Given the description of an element on the screen output the (x, y) to click on. 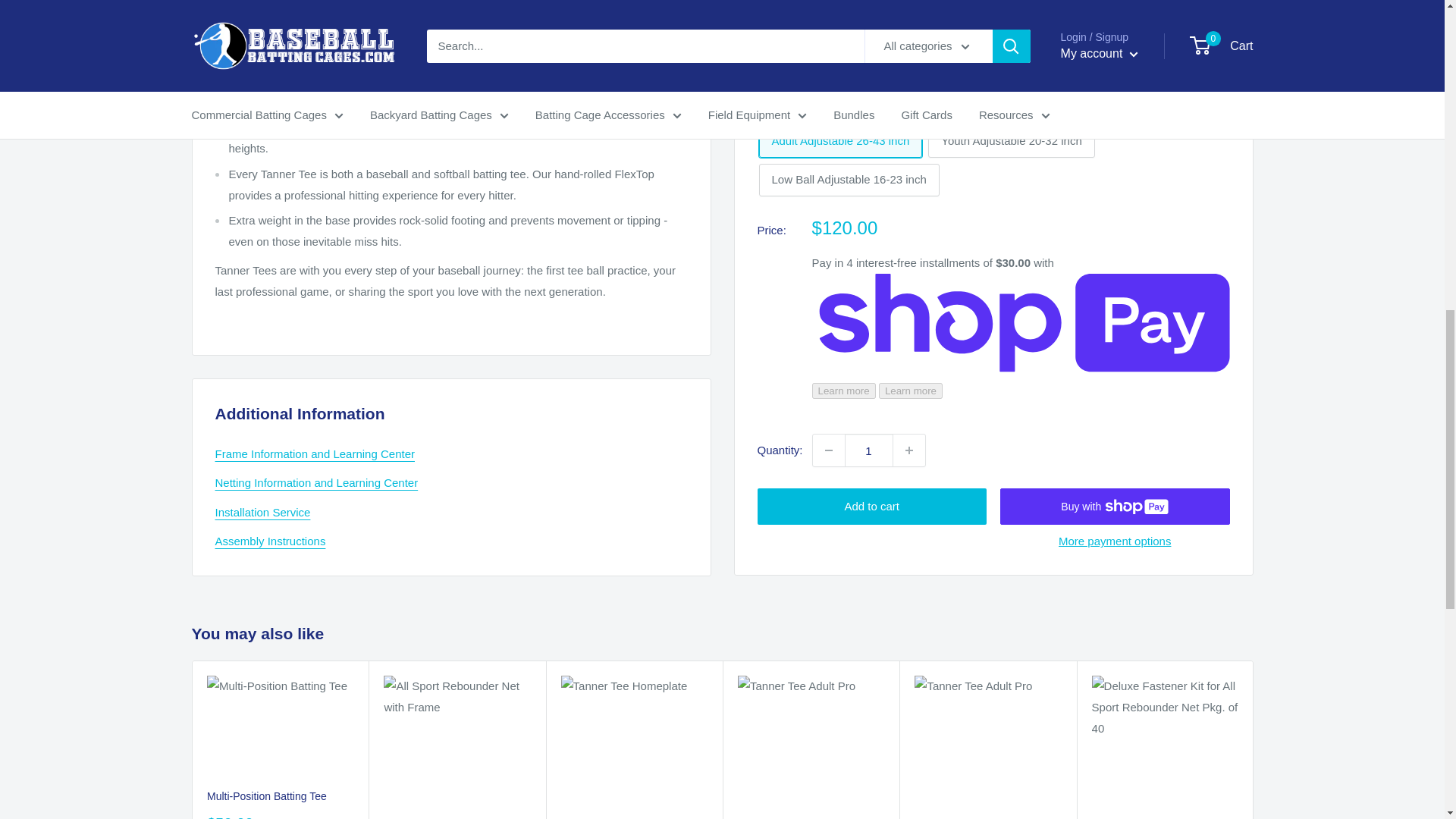
Assembly Instructions (270, 540)
Baseball Batting Cage Installation Services (263, 512)
Batting Frame Learning Center (314, 453)
Netting Learning Center (317, 481)
